Given the description of an element on the screen output the (x, y) to click on. 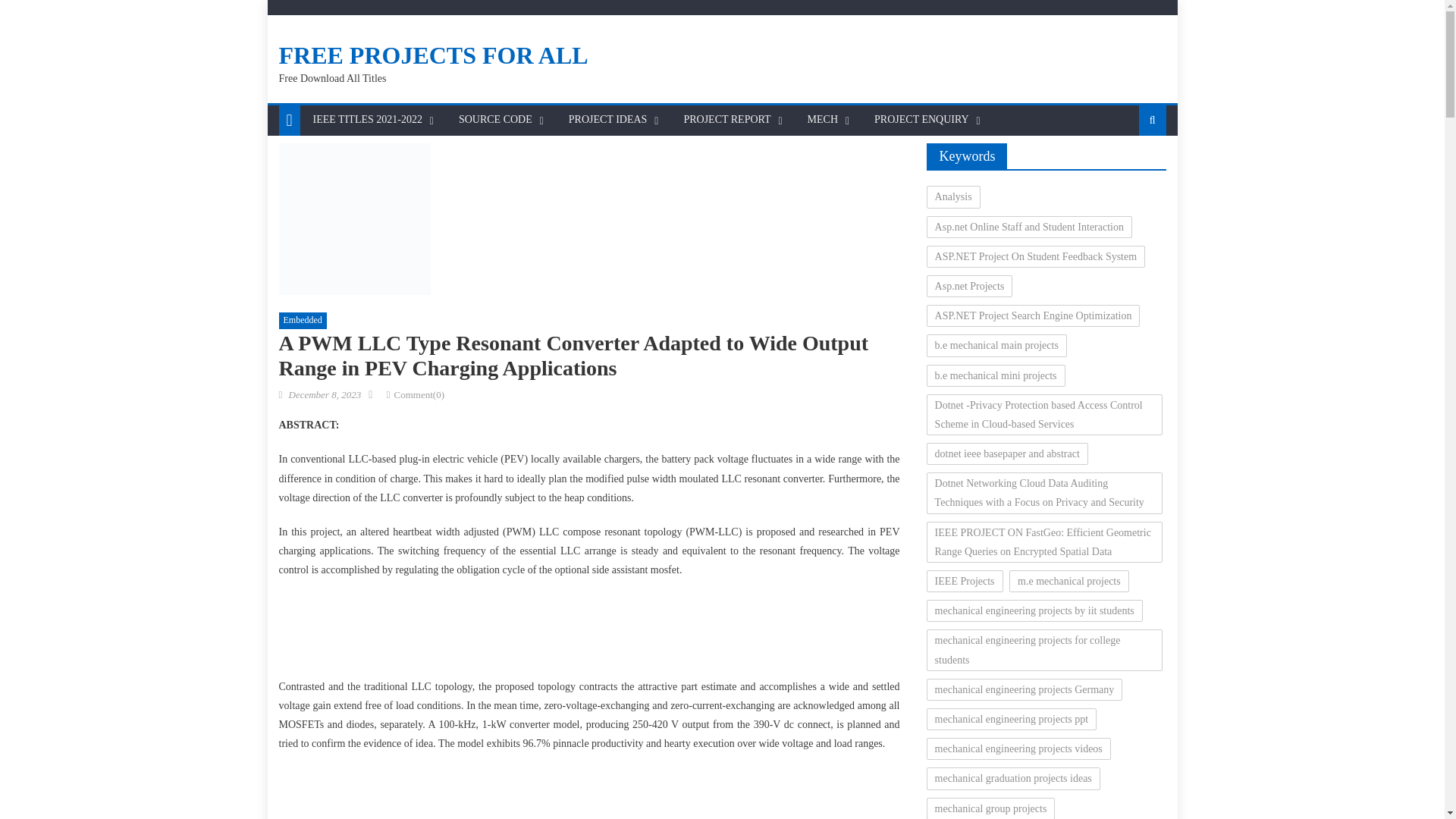
Advertisement (589, 793)
FREE PROJECTS FOR ALL (433, 54)
Advertisement (588, 632)
SOURCE CODE (494, 119)
IEEE TITLES 2021-2022 (367, 119)
PROJECT REPORT (726, 119)
PROJECT IDEAS (608, 119)
